Given the description of an element on the screen output the (x, y) to click on. 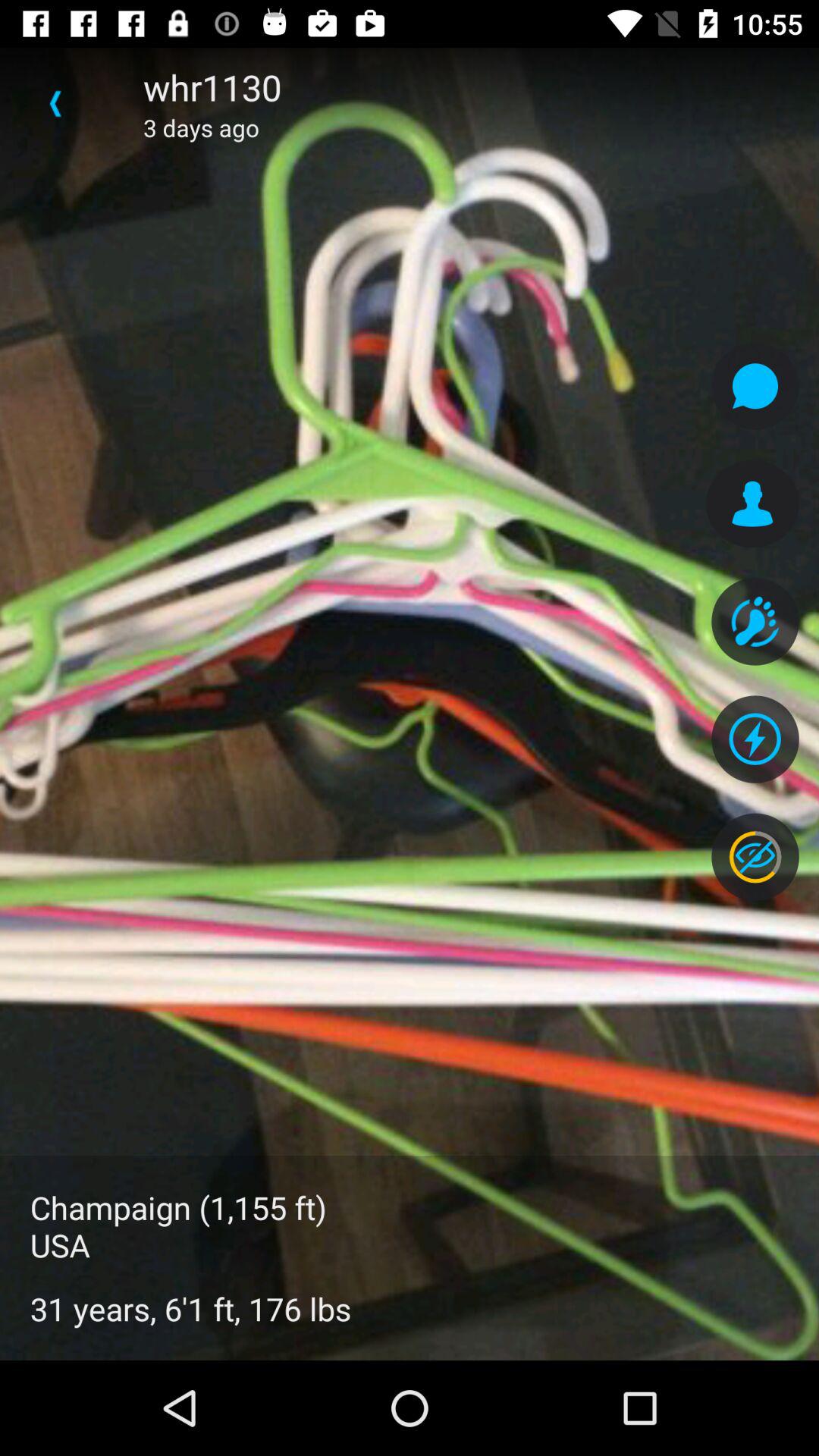
select the icon which is below profile icon on the page (755, 621)
click on the fourth option (755, 739)
